Given the description of an element on the screen output the (x, y) to click on. 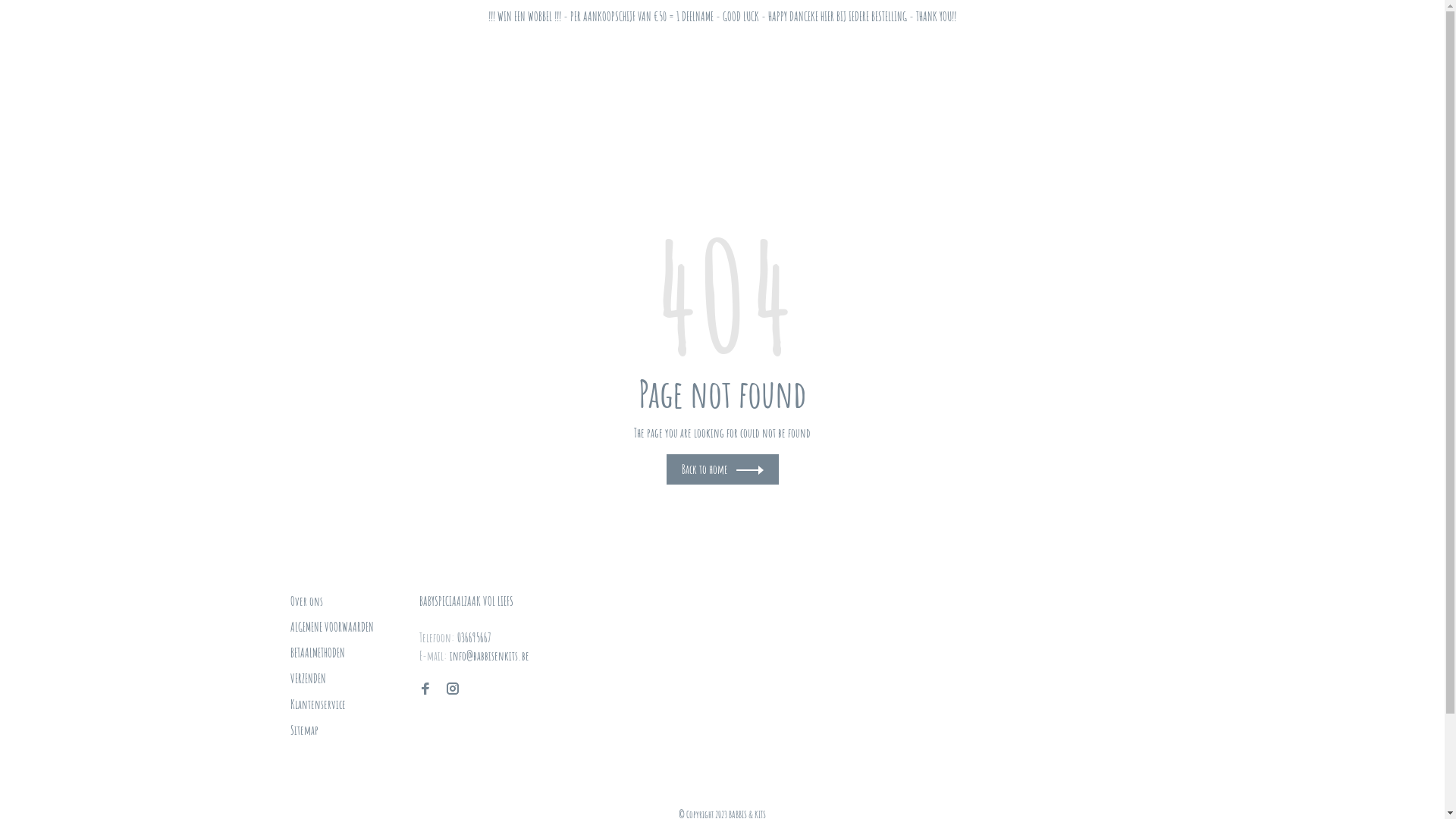
Over ons Element type: text (305, 600)
Facebook Element type: hover (424, 688)
Telefoon: 036695667 Element type: text (454, 637)
Instagram BABBIS & KITS Element type: hover (451, 688)
E-mail: info@babbisenkits.be Element type: text (473, 655)
BETAALMETHODEN Element type: text (316, 652)
ALGEMENE VOORWAARDEN Element type: text (331, 626)
Sitemap Element type: text (303, 729)
VERZENDEN Element type: text (307, 678)
Back to home Element type: text (721, 469)
Klantenservice Element type: text (317, 704)
